Given the description of an element on the screen output the (x, y) to click on. 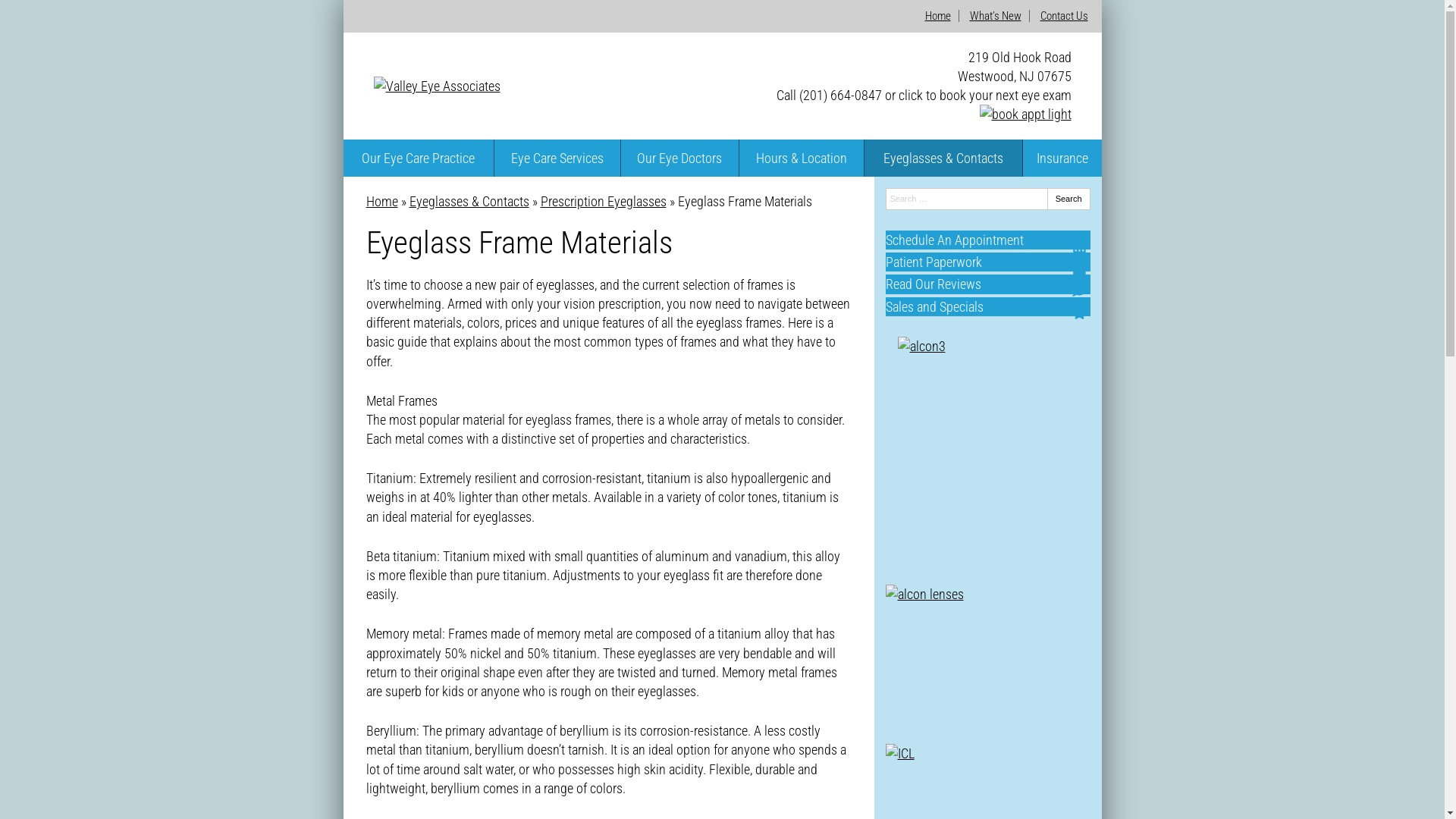
Valley Eye Associates Element type: hover (436, 86)
Schedule An Appointment Element type: text (987, 239)
Home Element type: text (381, 201)
Our Eye Care Practice Element type: text (417, 157)
Search Element type: text (1068, 199)
Patient Paperwork Element type: text (987, 261)
Sales and Specials Element type: text (987, 306)
Contact Us Element type: text (1064, 15)
Read Our Reviews Element type: text (987, 283)
Eyeglasses & Contacts Element type: text (943, 157)
Our Eye Doctors Element type: text (679, 157)
Insurance Element type: text (1061, 157)
Hours & Location Element type: text (801, 157)
Eye Care Services Element type: text (557, 157)
Eyeglasses & Contacts Element type: text (469, 201)
Home Element type: text (937, 15)
Prescription Eyeglasses Element type: text (602, 201)
